Given the description of an element on the screen output the (x, y) to click on. 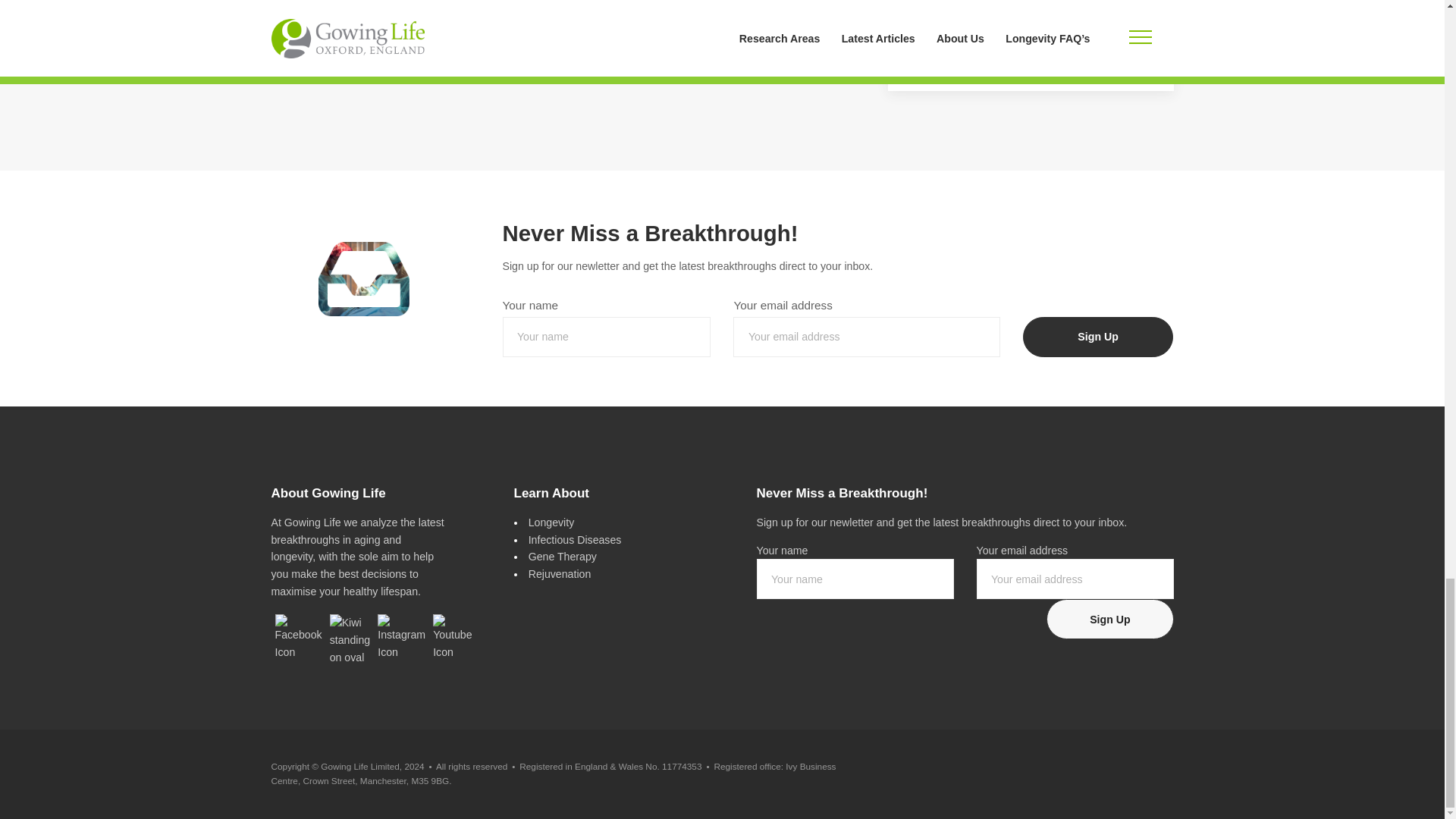
Learn all about Infectious Diseases (574, 539)
Learn all about Rejuvenation (559, 573)
Sign Up (1109, 618)
Sign Up (1098, 336)
Learn all about Longevity (551, 522)
Learn all about Gene Therapy (562, 556)
